Given the description of an element on the screen output the (x, y) to click on. 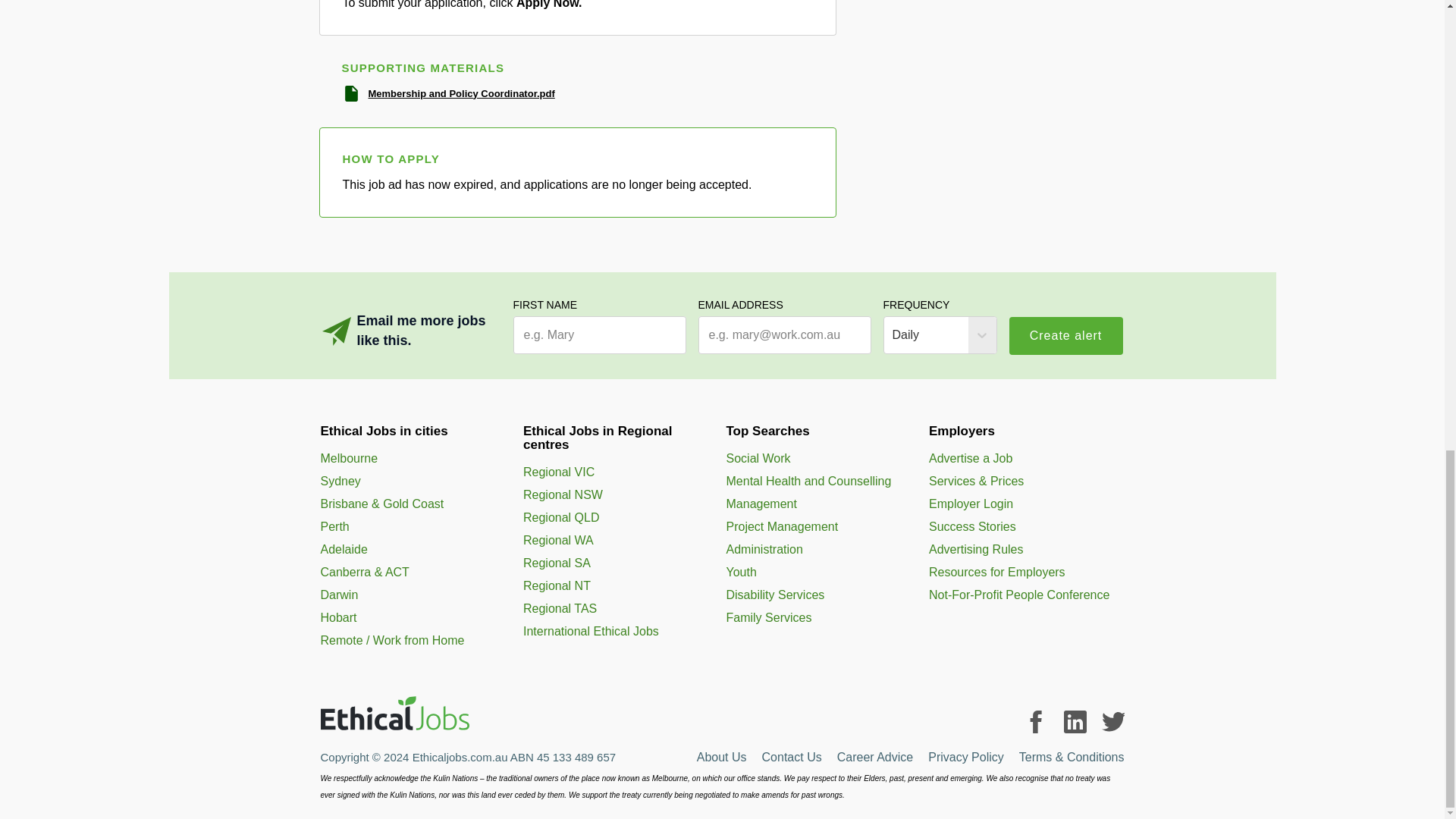
Membership and Policy Coordinator.pdf (461, 93)
